Given the description of an element on the screen output the (x, y) to click on. 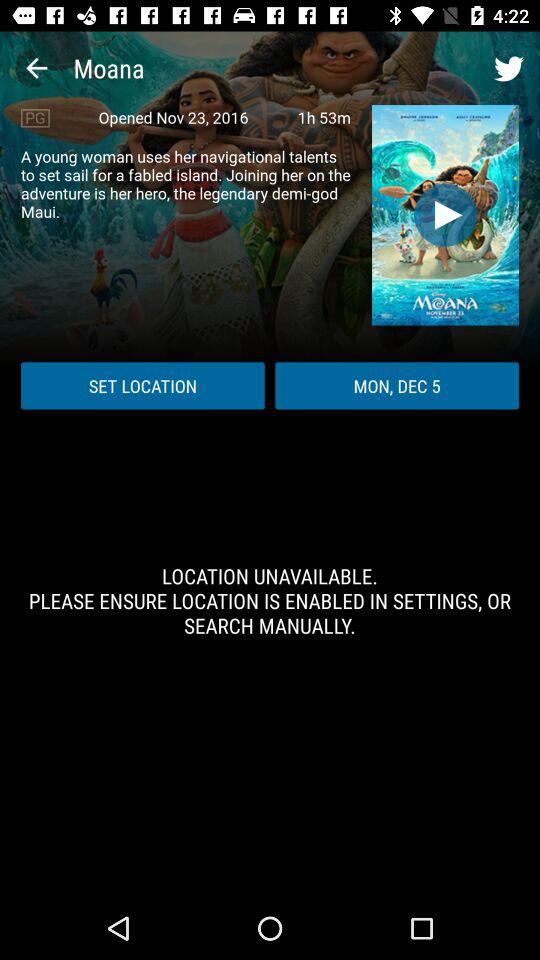
launch item below a young woman icon (142, 385)
